Given the description of an element on the screen output the (x, y) to click on. 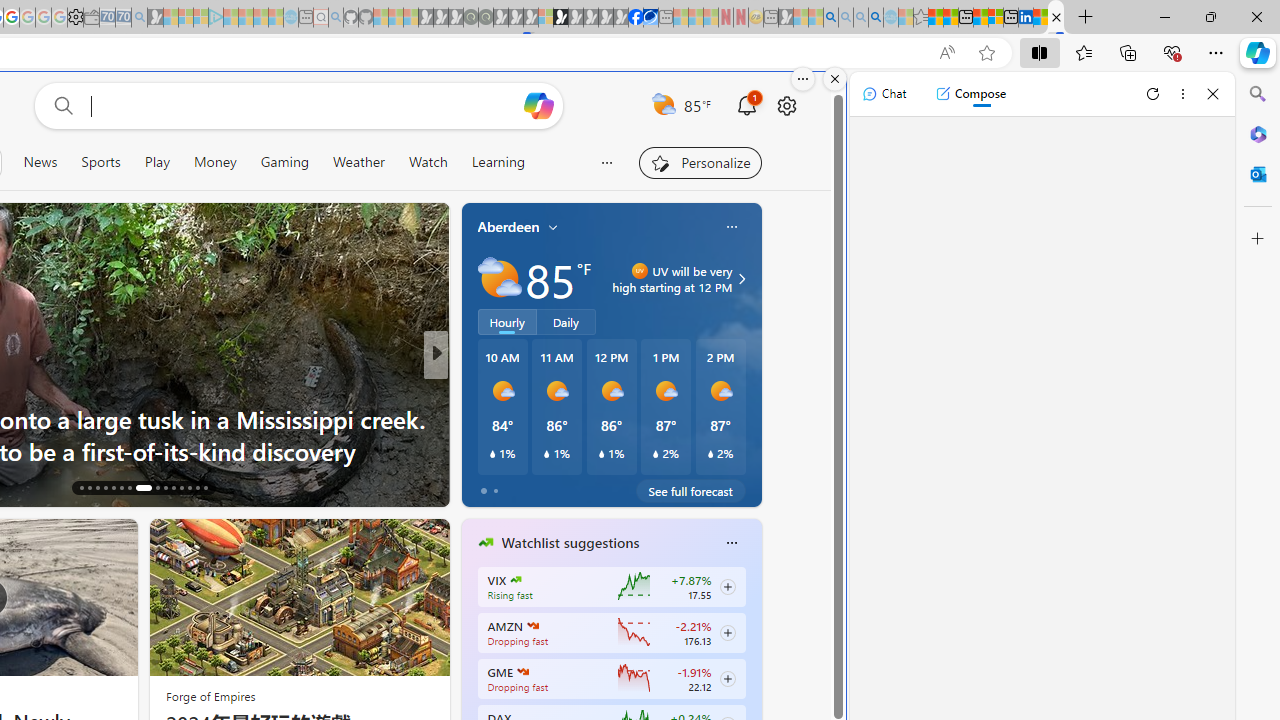
Close Customize pane (1258, 239)
Class: weather-arrow-glyph (742, 278)
New tab - Sleeping (771, 17)
Start the conversation (560, 486)
Home | Sky Blue Bikes - Sky Blue Bikes - Sleeping (291, 17)
Watch (427, 162)
tab-0 (483, 490)
